Given the description of an element on the screen output the (x, y) to click on. 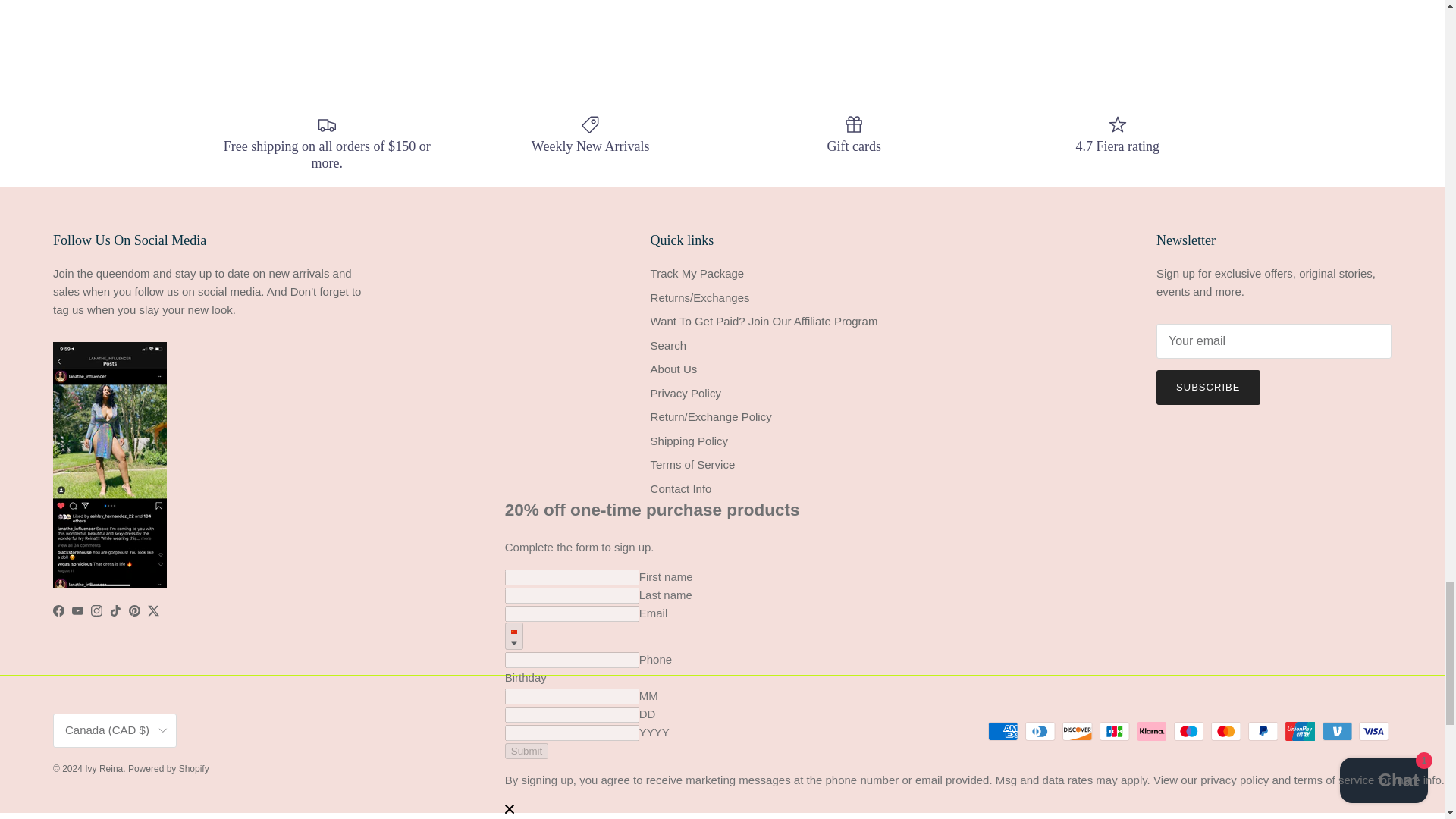
Ivy Reina on YouTube (76, 610)
Ivy Reina on Facebook (58, 610)
